Given the description of an element on the screen output the (x, y) to click on. 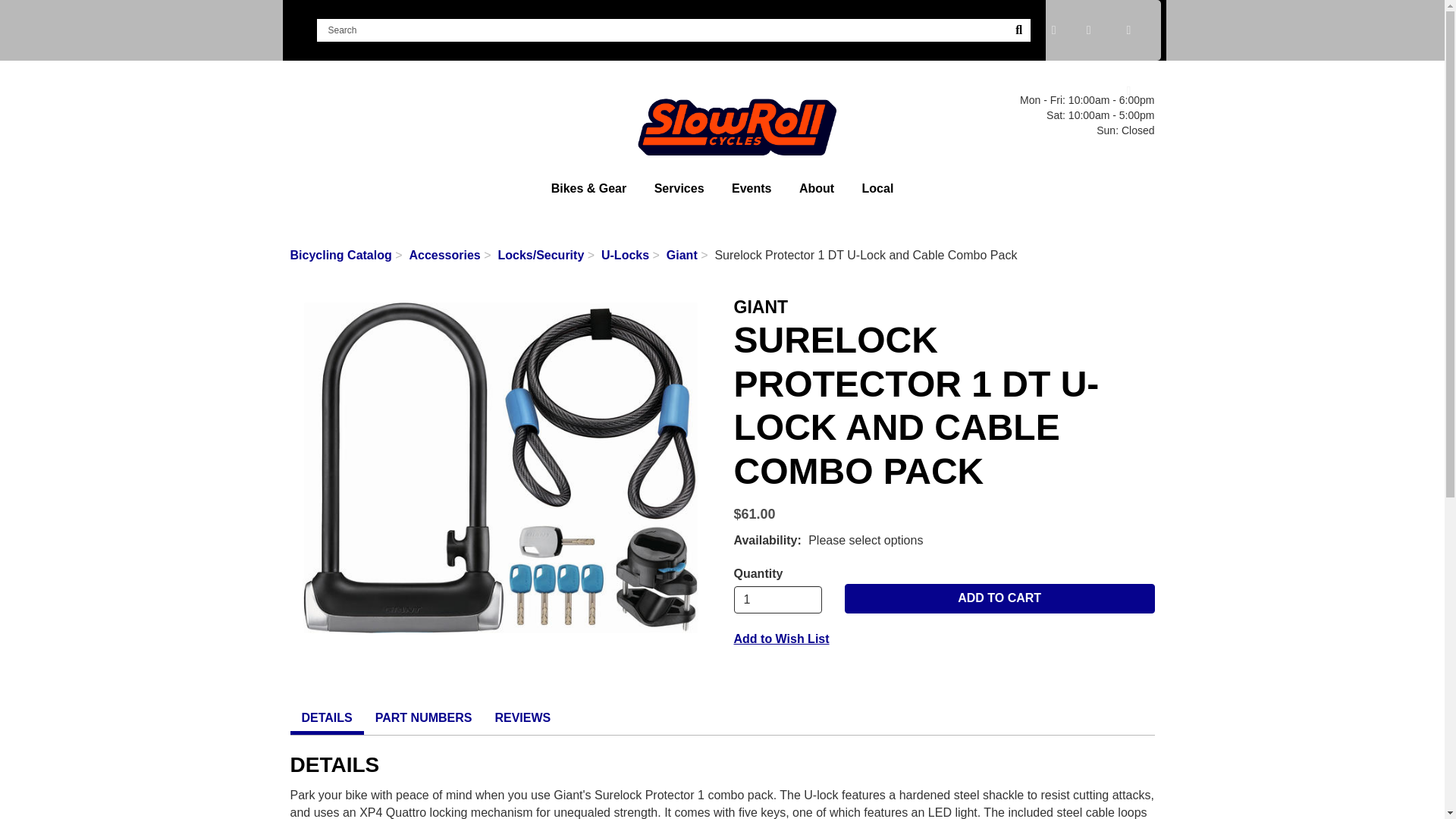
Slow Roll Cycles Home Page (721, 114)
1 (777, 599)
SEARCH (1018, 29)
Search (662, 29)
